Given the description of an element on the screen output the (x, y) to click on. 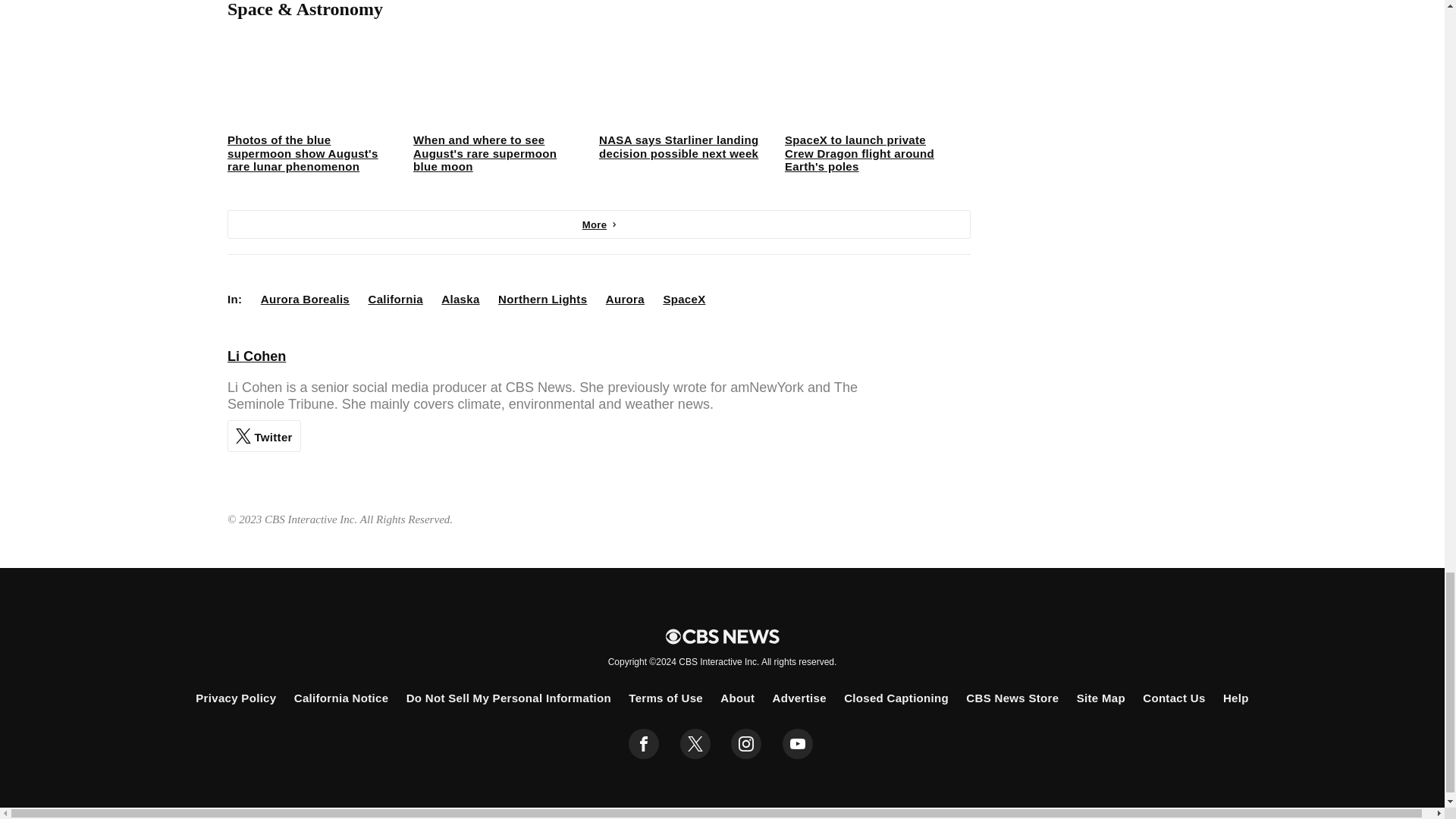
facebook (643, 743)
instagram (745, 743)
twitter (694, 743)
youtube (797, 743)
